Given the description of an element on the screen output the (x, y) to click on. 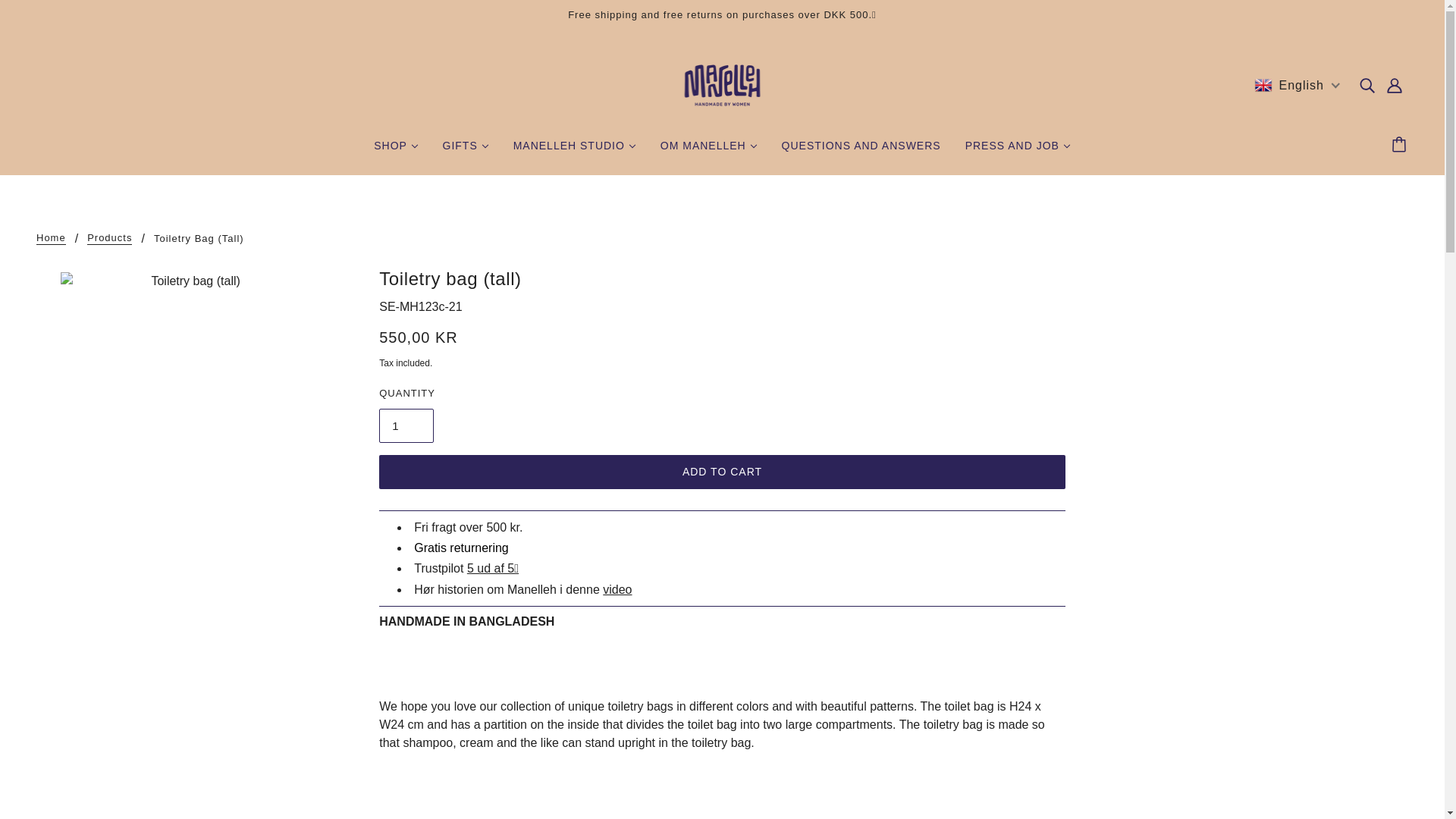
Historien bag Manelleh (616, 589)
1 (405, 425)
SHOP (395, 151)
PRESS AND JOB (1018, 151)
OM MANELLEH (708, 151)
Trustpilot (492, 567)
GIFTS (465, 151)
Manelleh (722, 83)
QUESTIONS AND ANSWERS (861, 151)
MANELLEH STUDIO (573, 151)
